Given the description of an element on the screen output the (x, y) to click on. 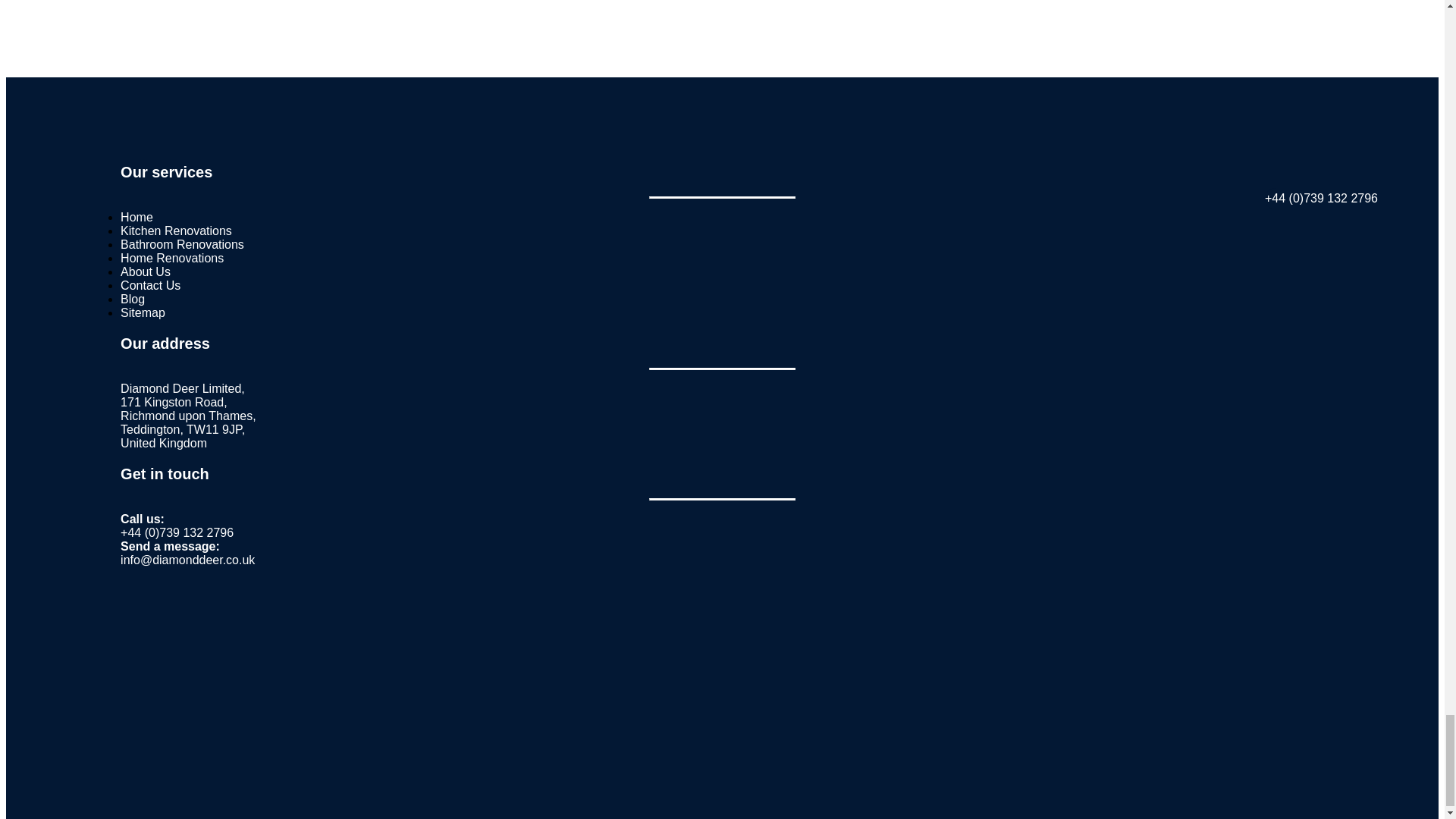
Blog (132, 298)
About Us (145, 271)
Home (136, 216)
Bathroom Renovations (182, 244)
Home Renovations (172, 257)
Kitchen Renovations (175, 230)
Sitemap (142, 312)
Contact Us (150, 285)
